Given the description of an element on the screen output the (x, y) to click on. 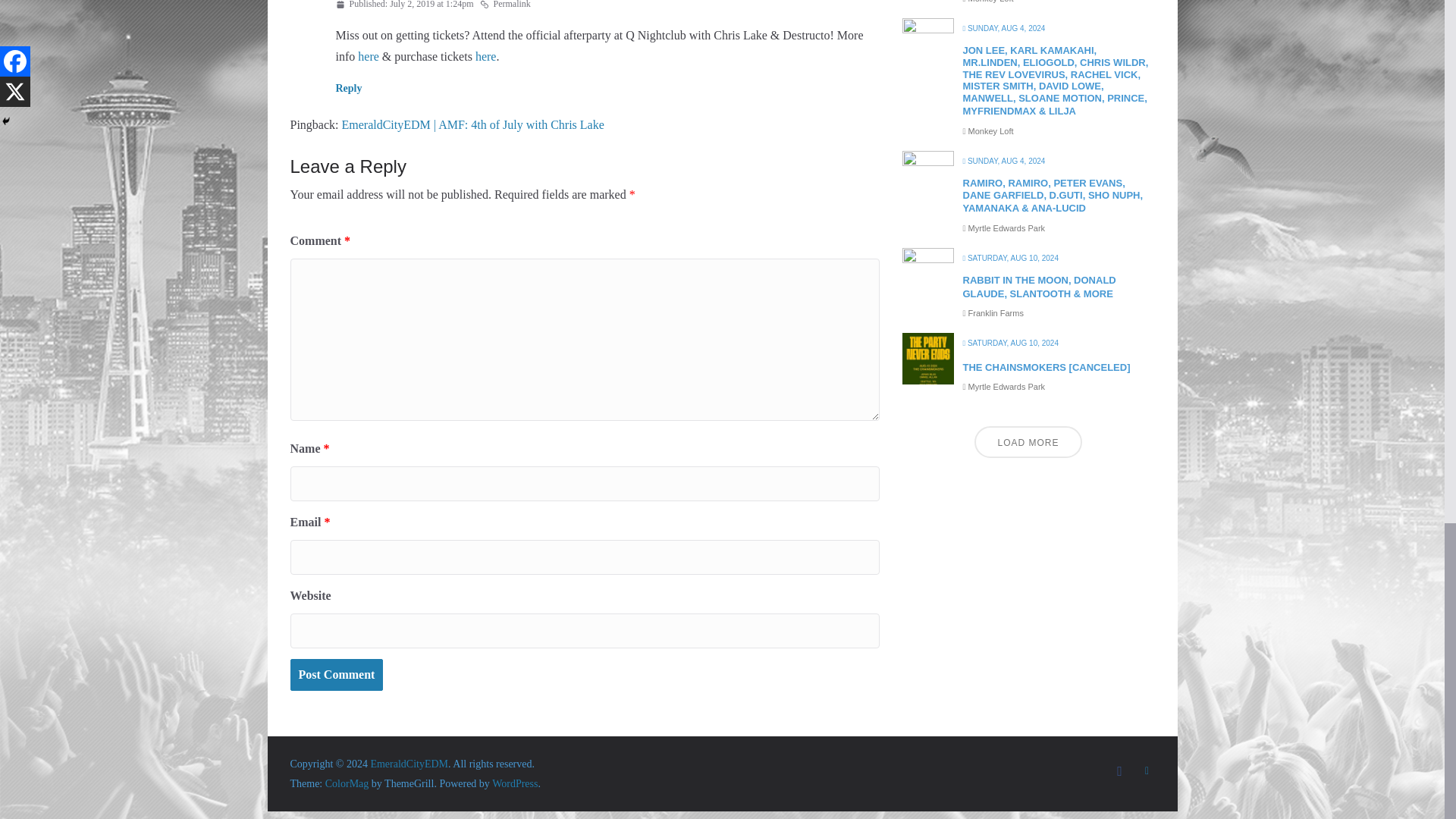
EmeraldCityEDM (408, 763)
Post Comment (335, 675)
WordPress (514, 783)
here (368, 56)
here (486, 56)
Post Comment (335, 675)
Permalink (505, 6)
ColorMag (346, 783)
Reply (347, 88)
